Given the description of an element on the screen output the (x, y) to click on. 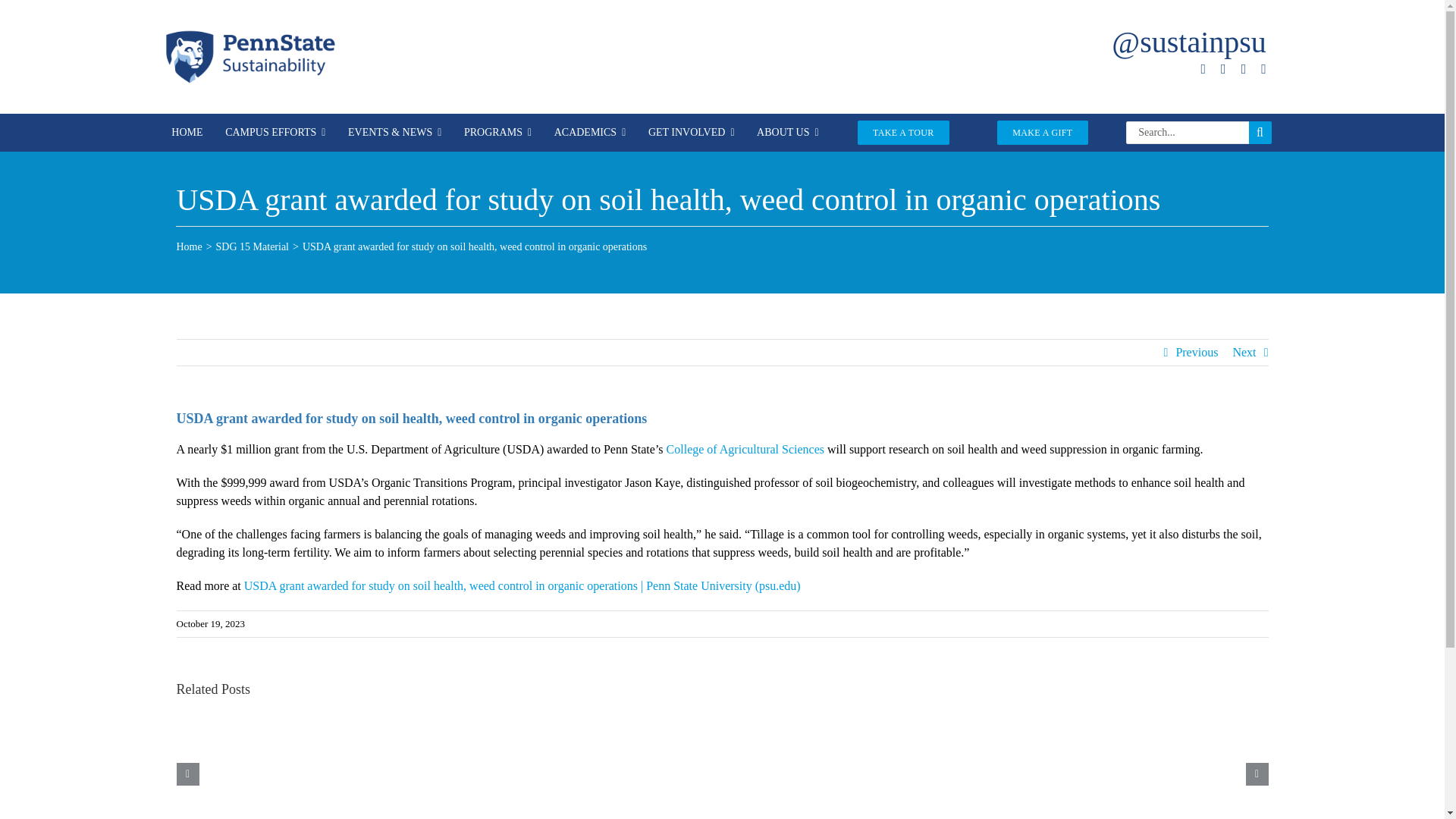
CAMPUS EFFORTS (274, 132)
PROGRAMS (497, 132)
HOME (186, 132)
